Given the description of an element on the screen output the (x, y) to click on. 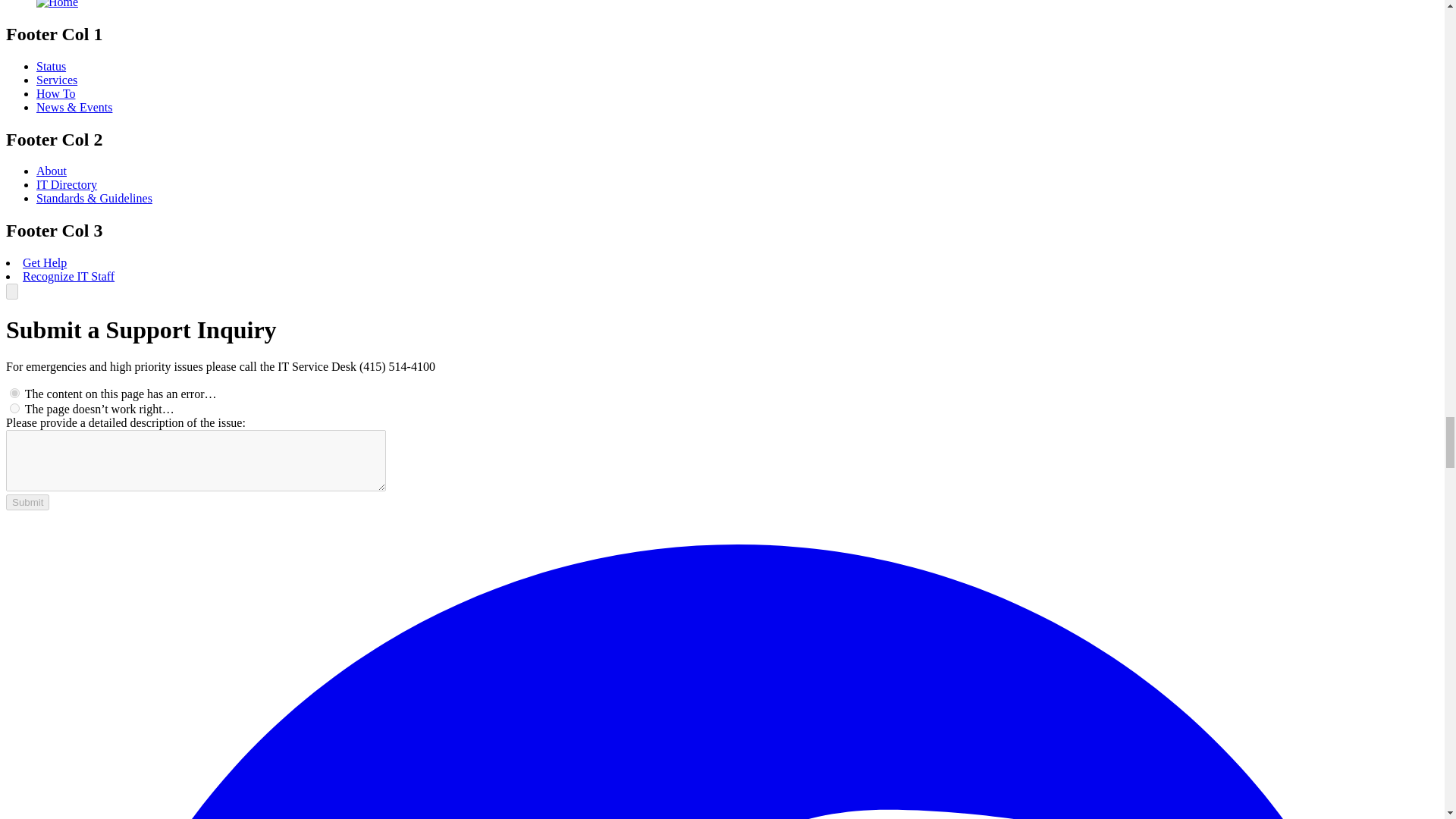
Home (57, 4)
Submit (27, 502)
Services (56, 79)
Status (50, 65)
About (51, 170)
Recognize IT Staff (69, 276)
IT Directory (66, 184)
Get Help (44, 262)
How To (55, 92)
